Given the description of an element on the screen output the (x, y) to click on. 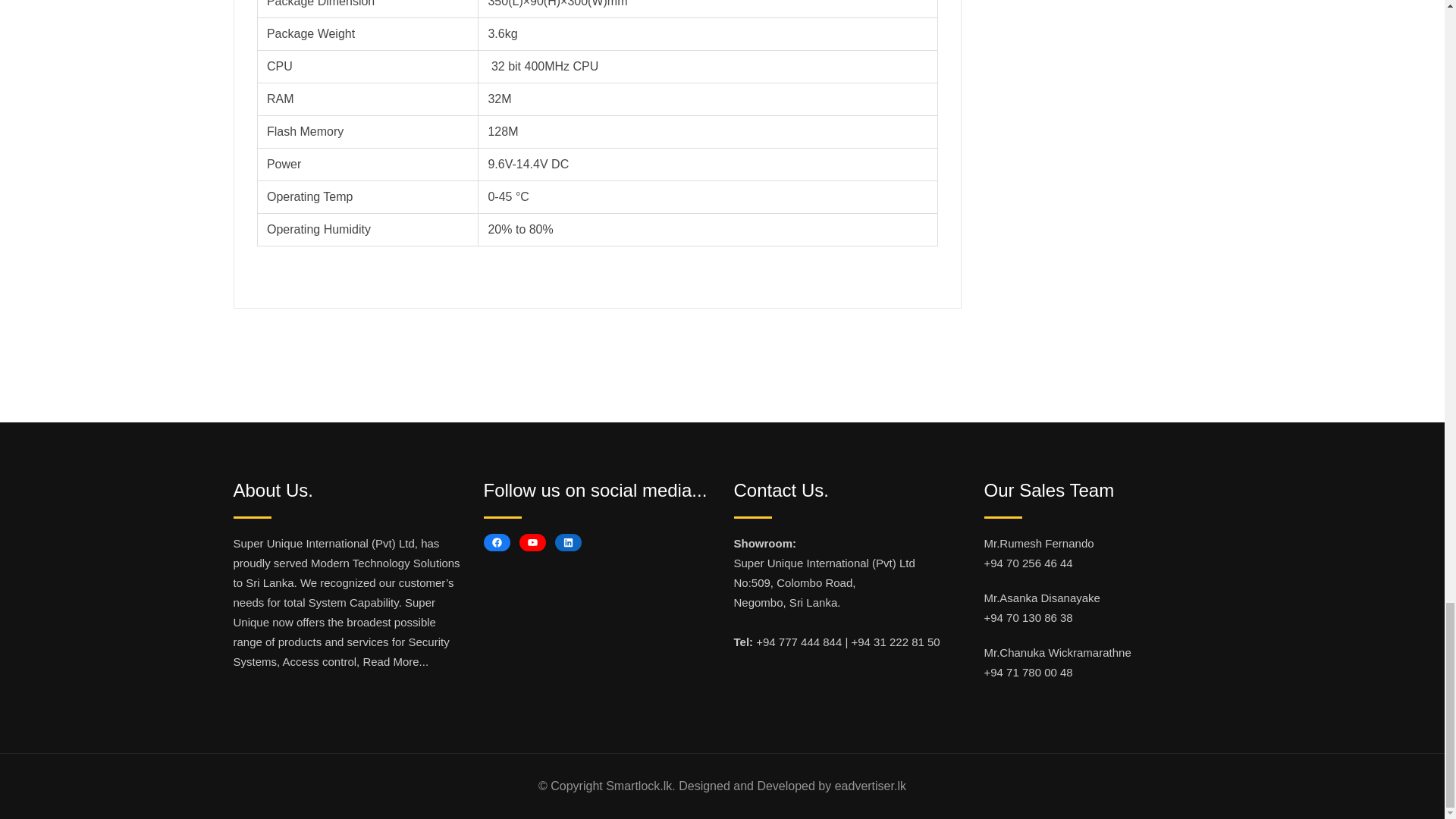
LinkedIn (567, 542)
Read More (390, 661)
YouTube (531, 542)
Facebook (497, 542)
